Given the description of an element on the screen output the (x, y) to click on. 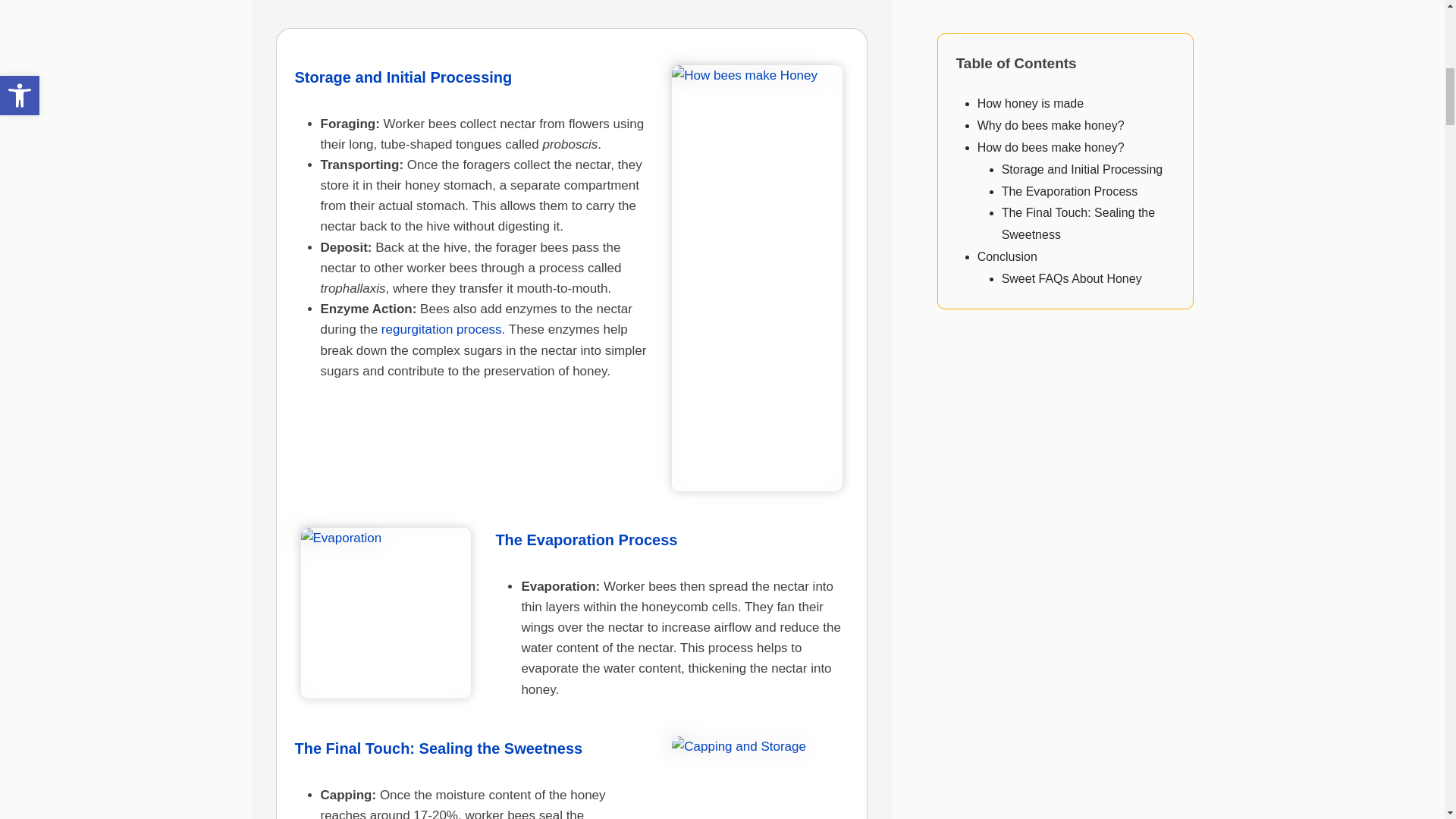
Capping and Storage (757, 777)
regurgitation process (441, 329)
The Final Touch: Sealing the Sweetness (438, 748)
Storage and Initial Processing (403, 76)
The Evaporation Process (586, 539)
Evaporation (384, 612)
